Given the description of an element on the screen output the (x, y) to click on. 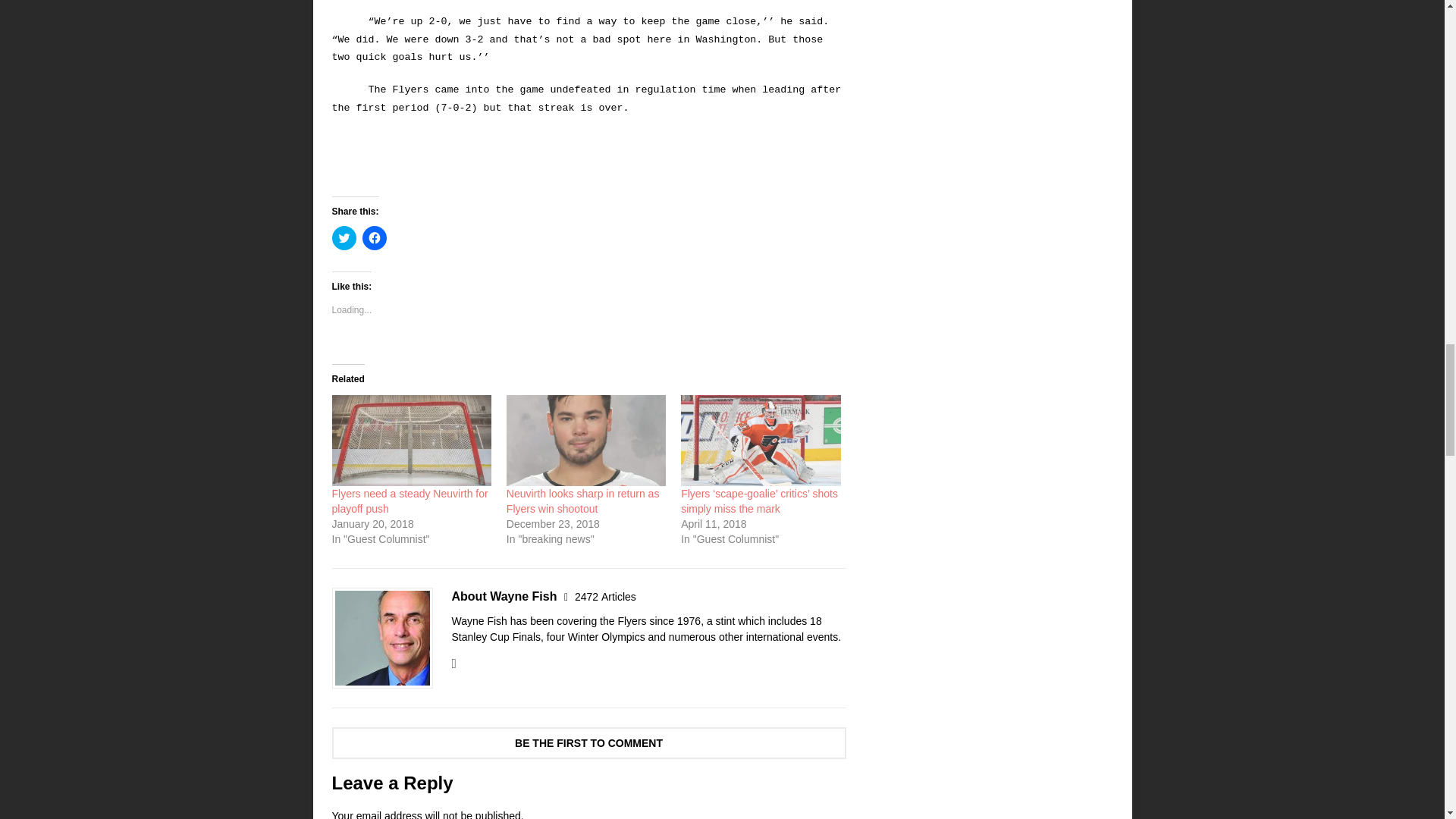
Neuvirth looks sharp in return as Flyers win shootout (582, 501)
More articles written by Wayne Fish' (605, 596)
Neuvirth looks sharp in return as Flyers win shootout (585, 440)
Flyers need a steady Neuvirth for playoff push (409, 501)
Flyers need a steady Neuvirth for playoff push (409, 501)
Click to share on Twitter (343, 238)
2472 Articles (605, 596)
Flyers need a steady Neuvirth for playoff push (411, 440)
Neuvirth looks sharp in return as Flyers win shootout (582, 501)
Click to share on Facebook (374, 238)
